Given the description of an element on the screen output the (x, y) to click on. 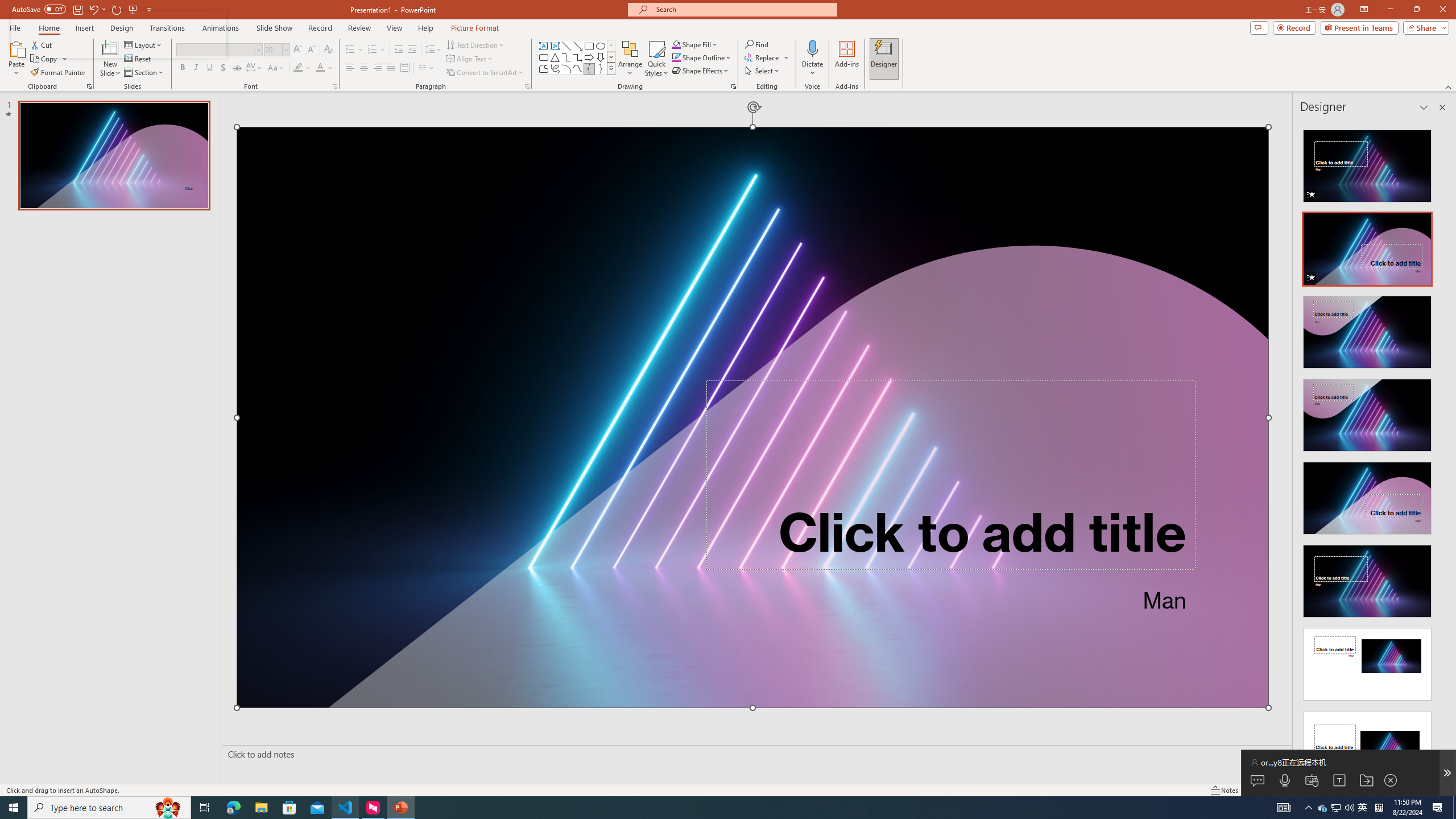
Close pane (1441, 107)
Zoom 142% (1430, 790)
Shapes (611, 68)
Recommended Design: Animation (1366, 162)
Left Brace (589, 68)
Strikethrough (237, 67)
Close (1442, 9)
New Slide (110, 58)
Align Left (349, 67)
Reset (138, 58)
Transitions (167, 28)
Section (144, 72)
Font (215, 49)
